Given the description of an element on the screen output the (x, y) to click on. 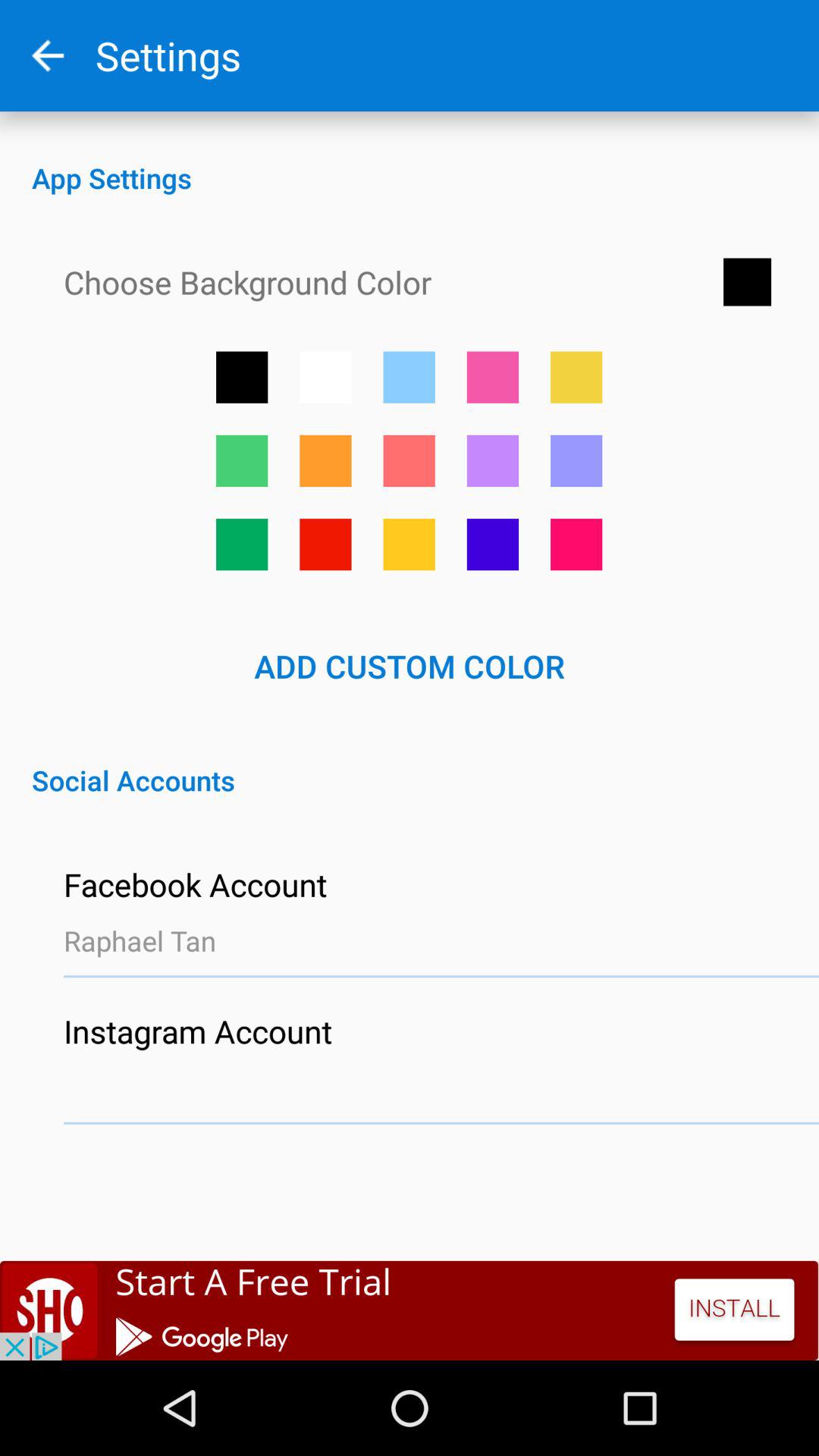
go to color (241, 460)
